Given the description of an element on the screen output the (x, y) to click on. 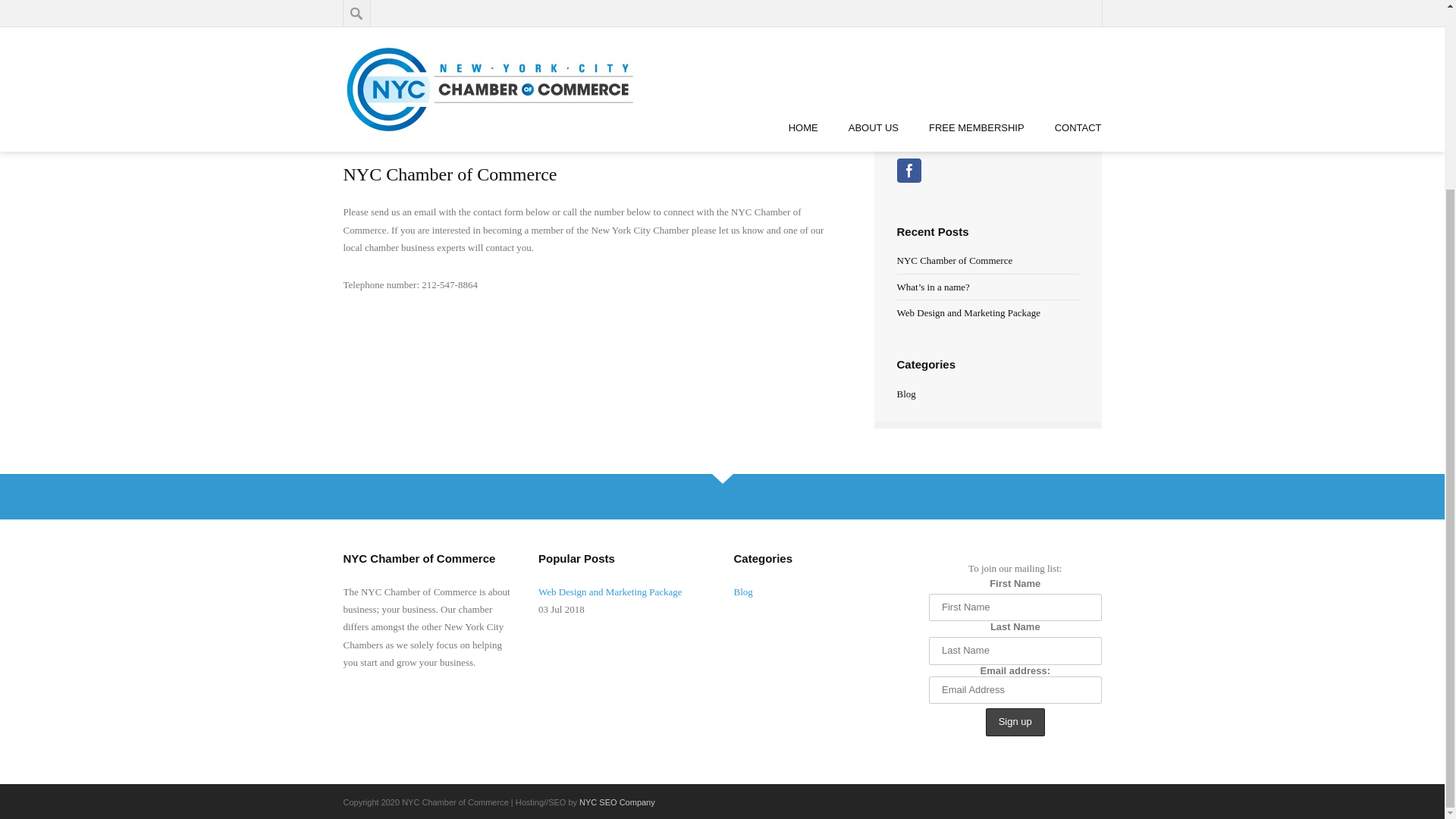
CONTACT (421, 61)
Posts by NYCCC (391, 133)
Sign up (1015, 722)
Web Design and Marketing Package (624, 591)
Blog (742, 591)
Sign up (1015, 722)
Web Design and Marketing Package (968, 312)
NYCCC (391, 133)
Facebook (908, 170)
NYC Chamber of Commerce (953, 260)
